Given the description of an element on the screen output the (x, y) to click on. 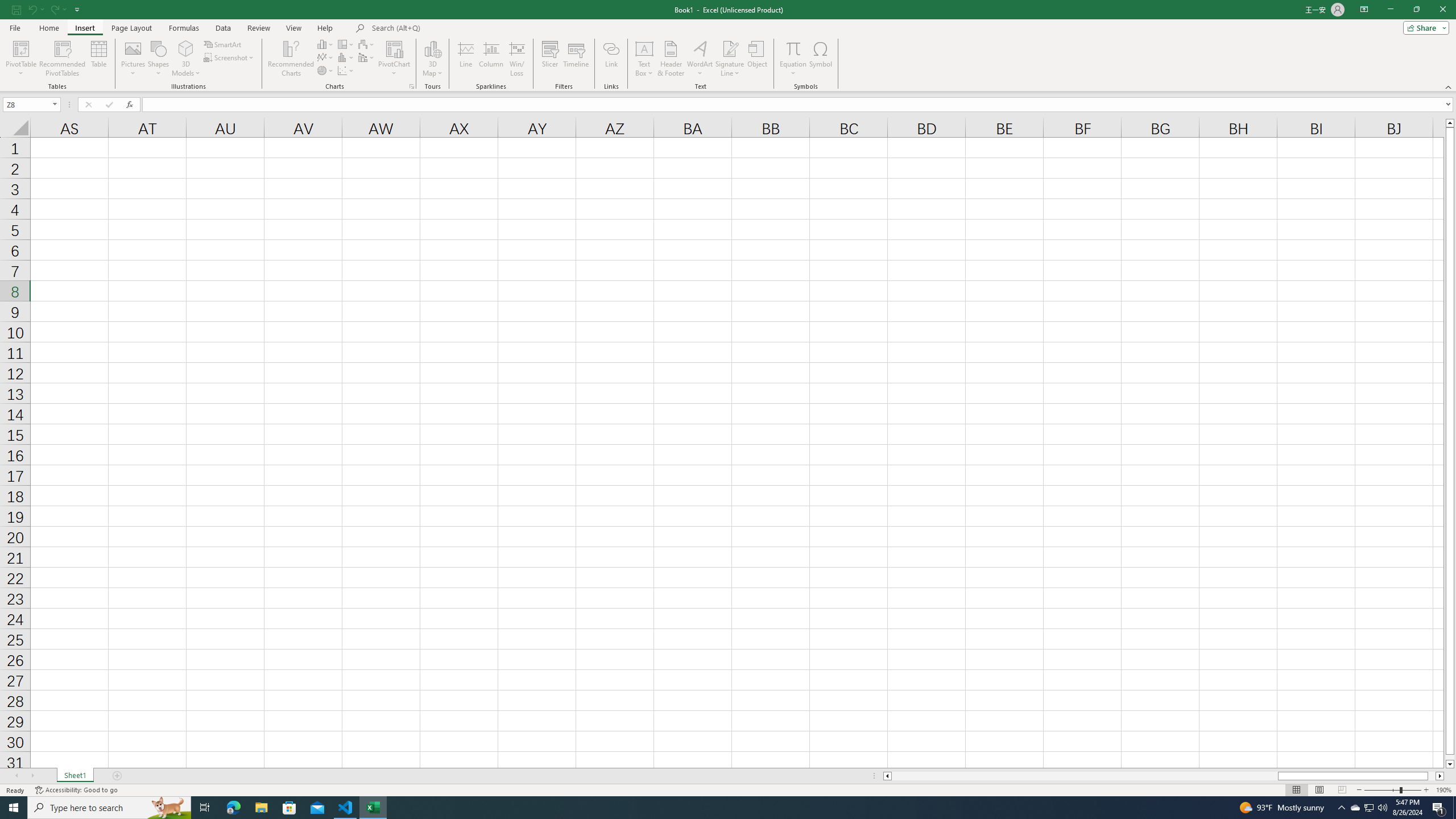
Signature Line (729, 58)
Insert Hierarchy Chart (346, 44)
Symbol... (821, 58)
PivotChart (394, 48)
Screenshot (229, 56)
Insert Combo Chart (366, 56)
Insert Line or Area Chart (325, 56)
